Given the description of an element on the screen output the (x, y) to click on. 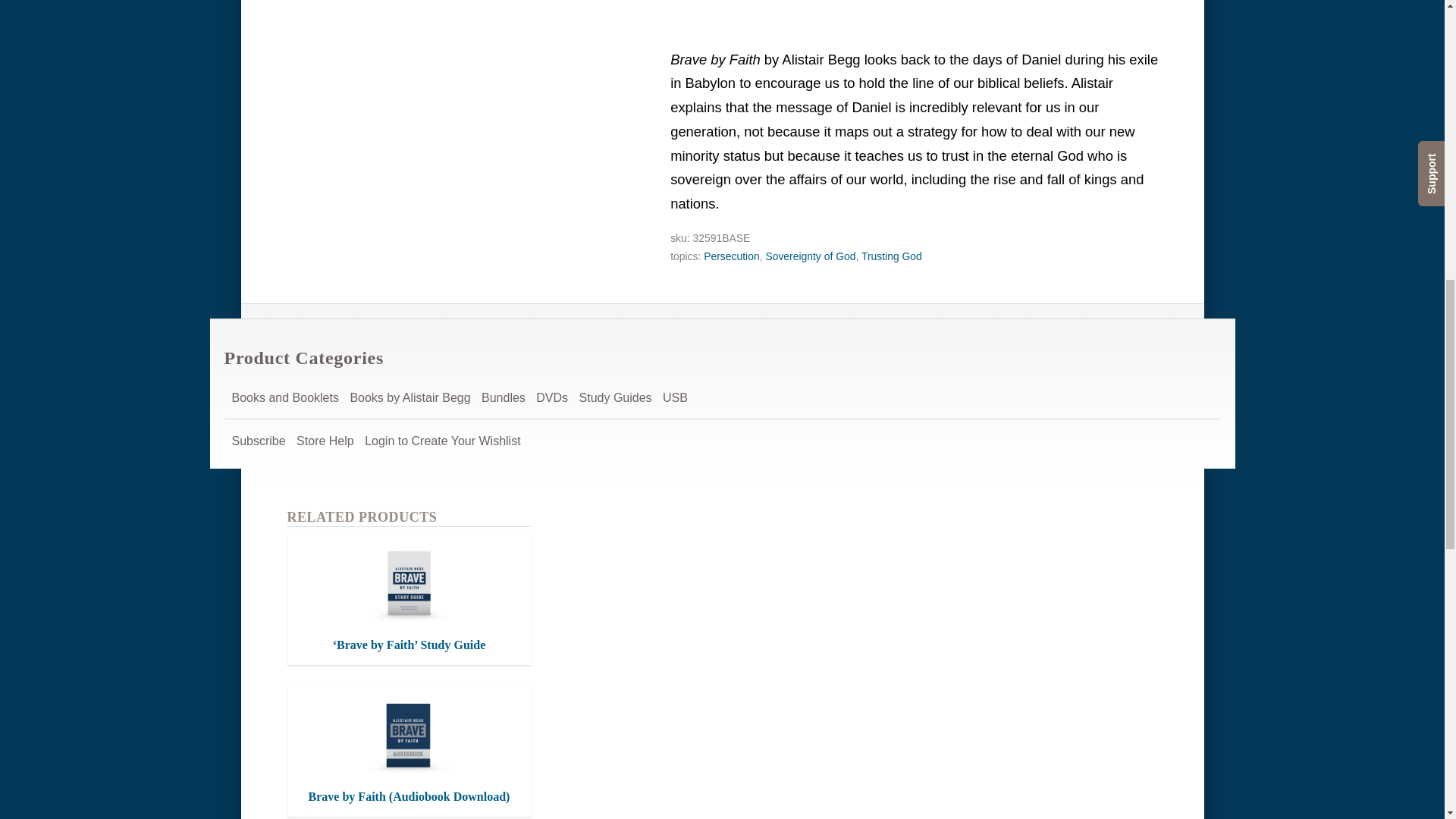
YouTube video player (913, 8)
